Given the description of an element on the screen output the (x, y) to click on. 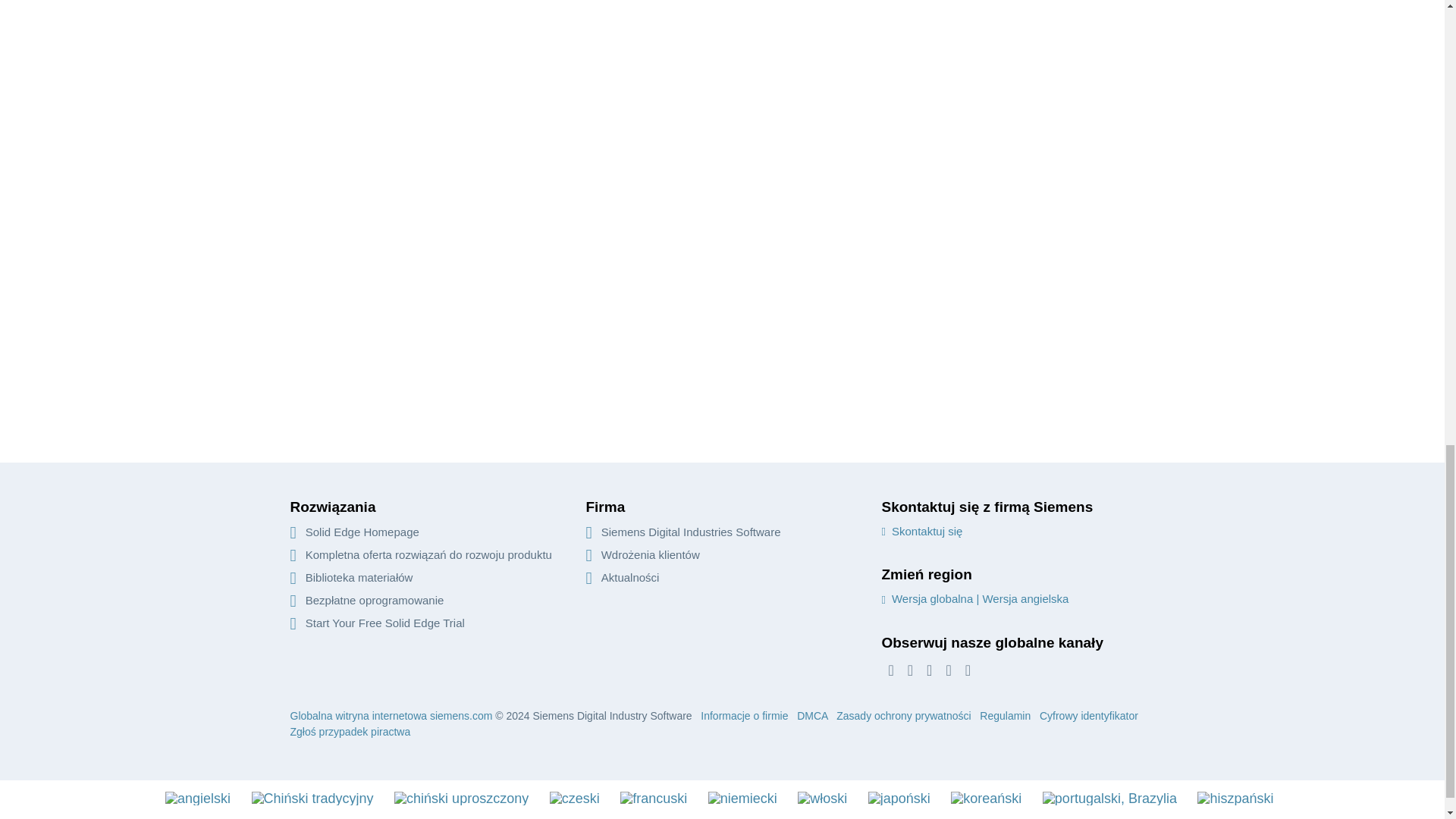
Siemens Digital Industries Software (682, 531)
DMCA (811, 715)
Cyfrowy identyfikator (1088, 715)
Informacje o firmie (743, 715)
Globalna witryna internetowa siemens.com (390, 715)
Start Your Free Solid Edge Trial (376, 622)
Regulamin (1004, 715)
Solid Edge Homepage (354, 531)
